Given the description of an element on the screen output the (x, y) to click on. 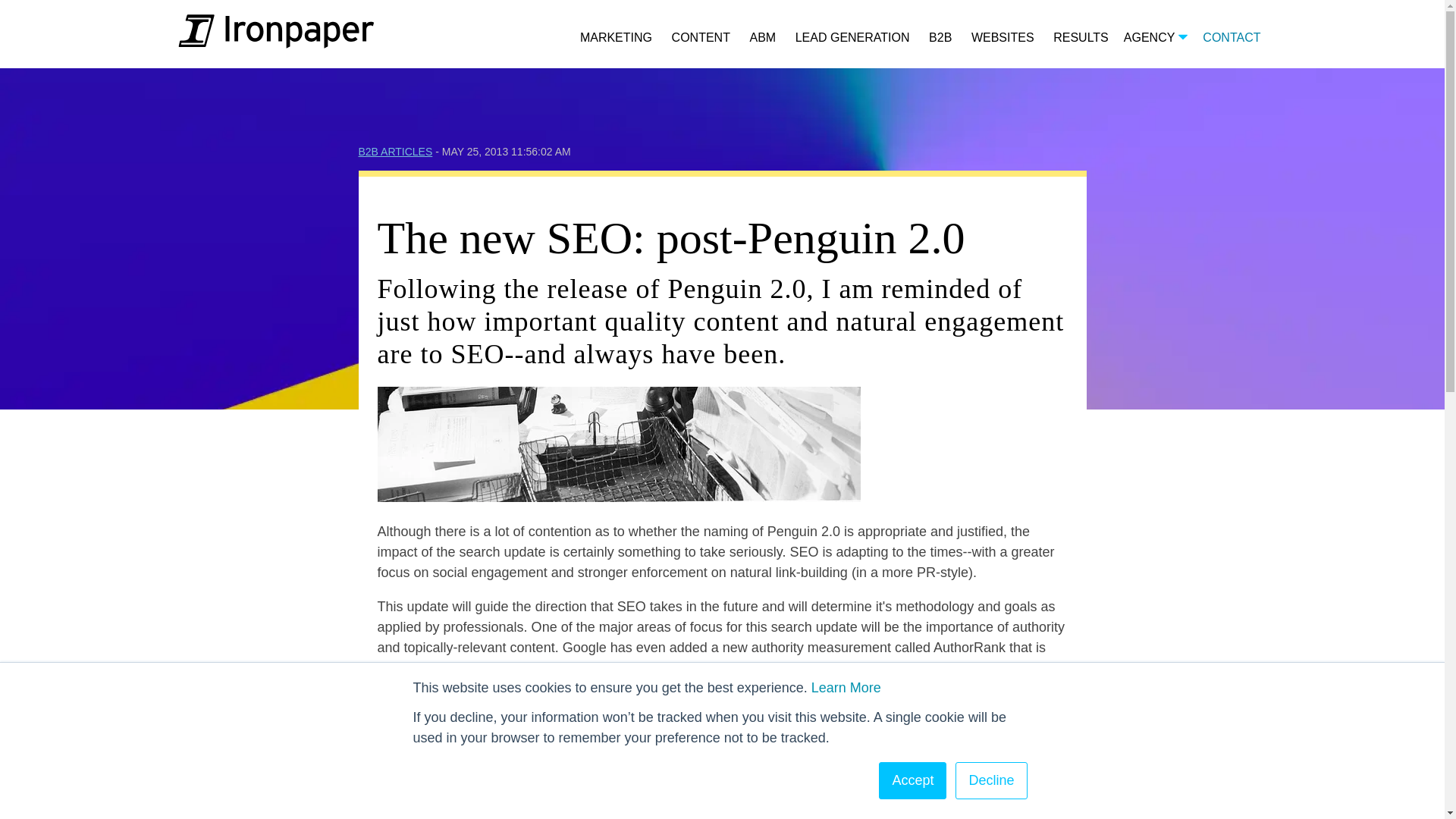
WEBSITES (1002, 37)
B2B (940, 37)
B2B ARTICLES (395, 151)
ABM (762, 37)
RESULTS (1080, 37)
CONTENT (700, 37)
CONTACT (1231, 37)
Learn More (845, 687)
MARKETING (615, 37)
LEAD GENERATION (852, 37)
AGENCY (1156, 37)
Accept (912, 780)
Decline (990, 780)
